Given the description of an element on the screen output the (x, y) to click on. 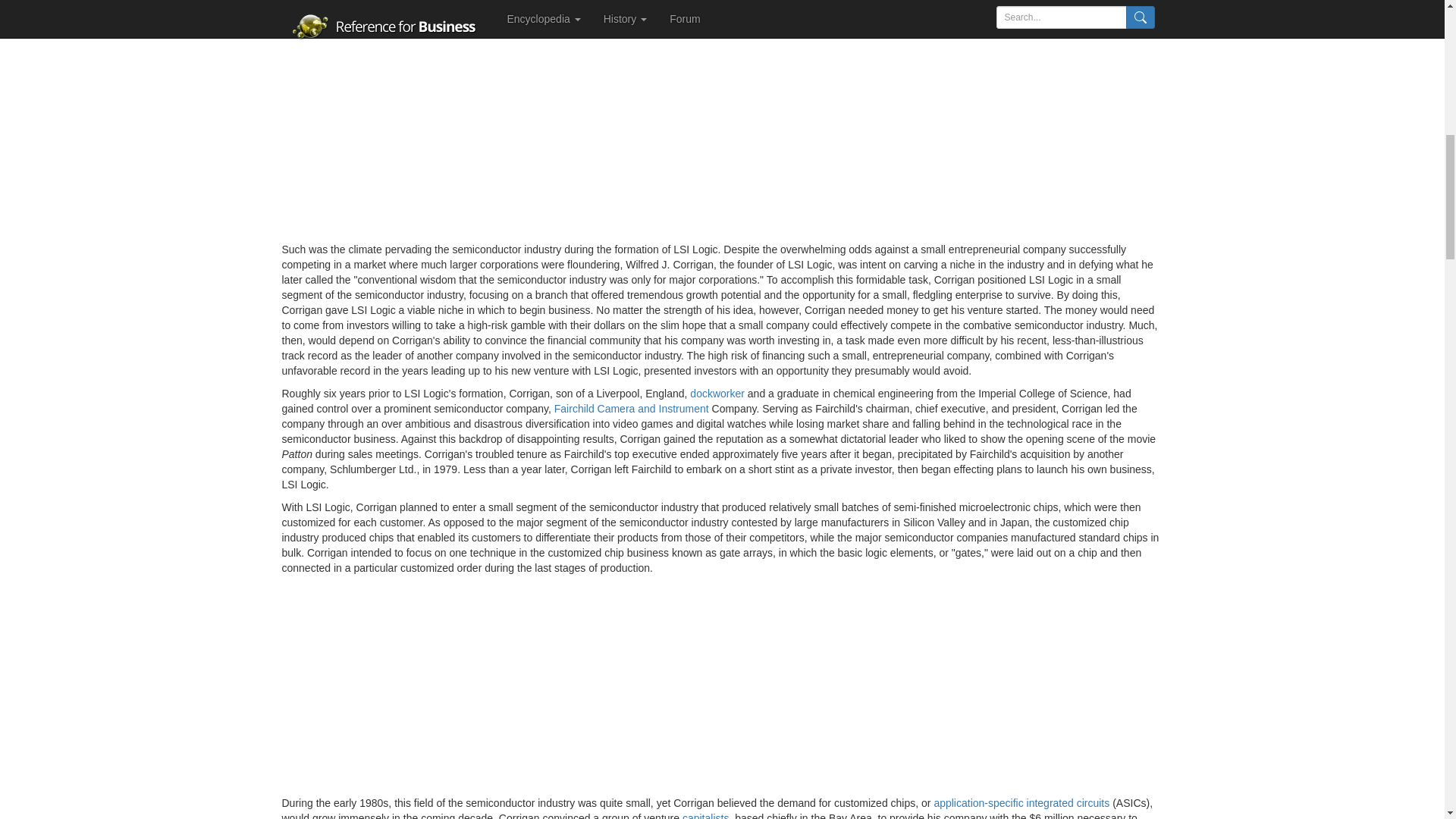
dockworker (717, 393)
View 'dockworker' definition from Wikipedia (717, 393)
application-specific integrated circuits (1021, 802)
Fairchild Camera and Instrument (631, 408)
View 'capitalists' definition from Wikipedia (705, 815)
capitalists (705, 815)
